Given the description of an element on the screen output the (x, y) to click on. 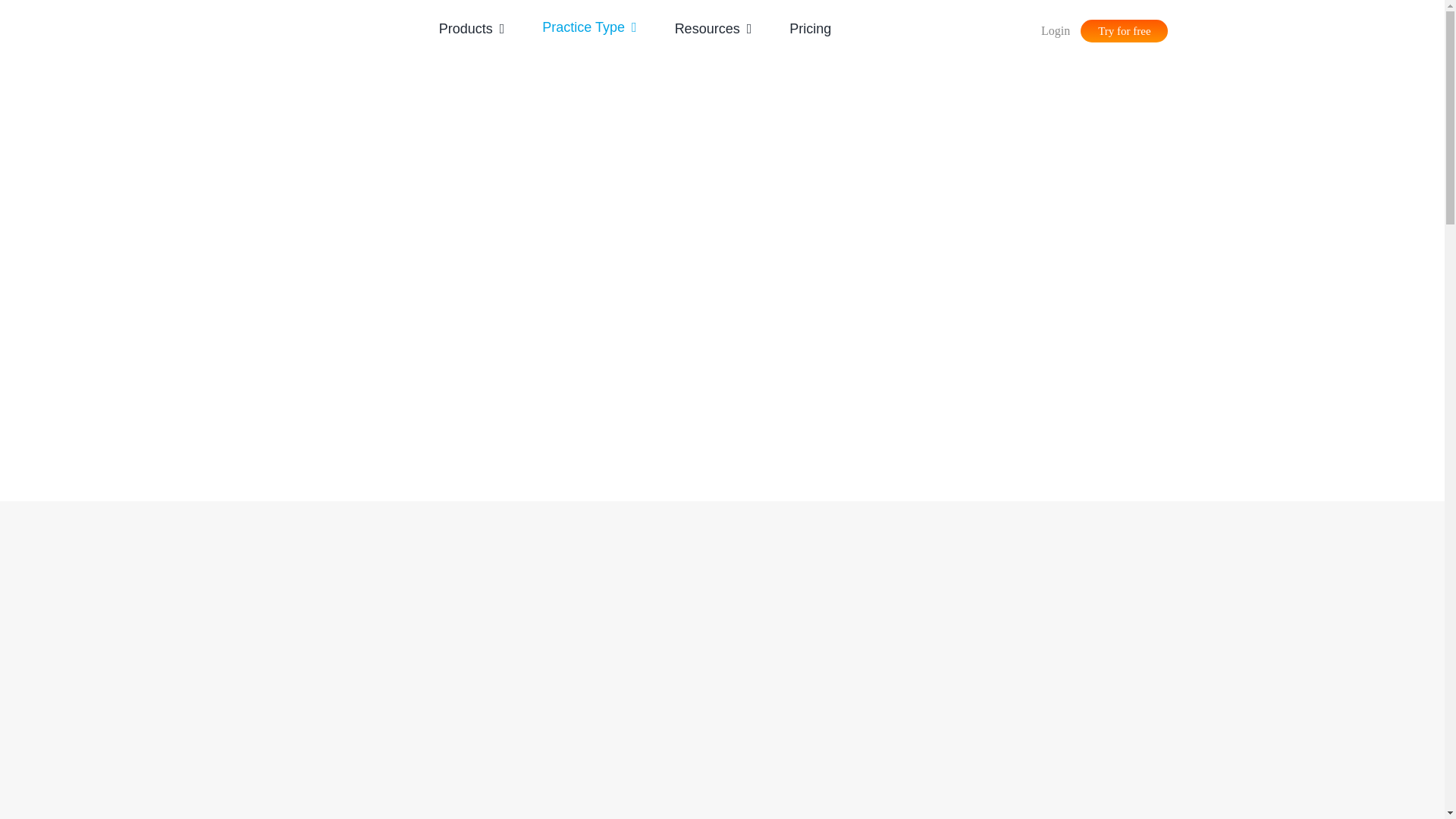
Products (472, 26)
